Given the description of an element on the screen output the (x, y) to click on. 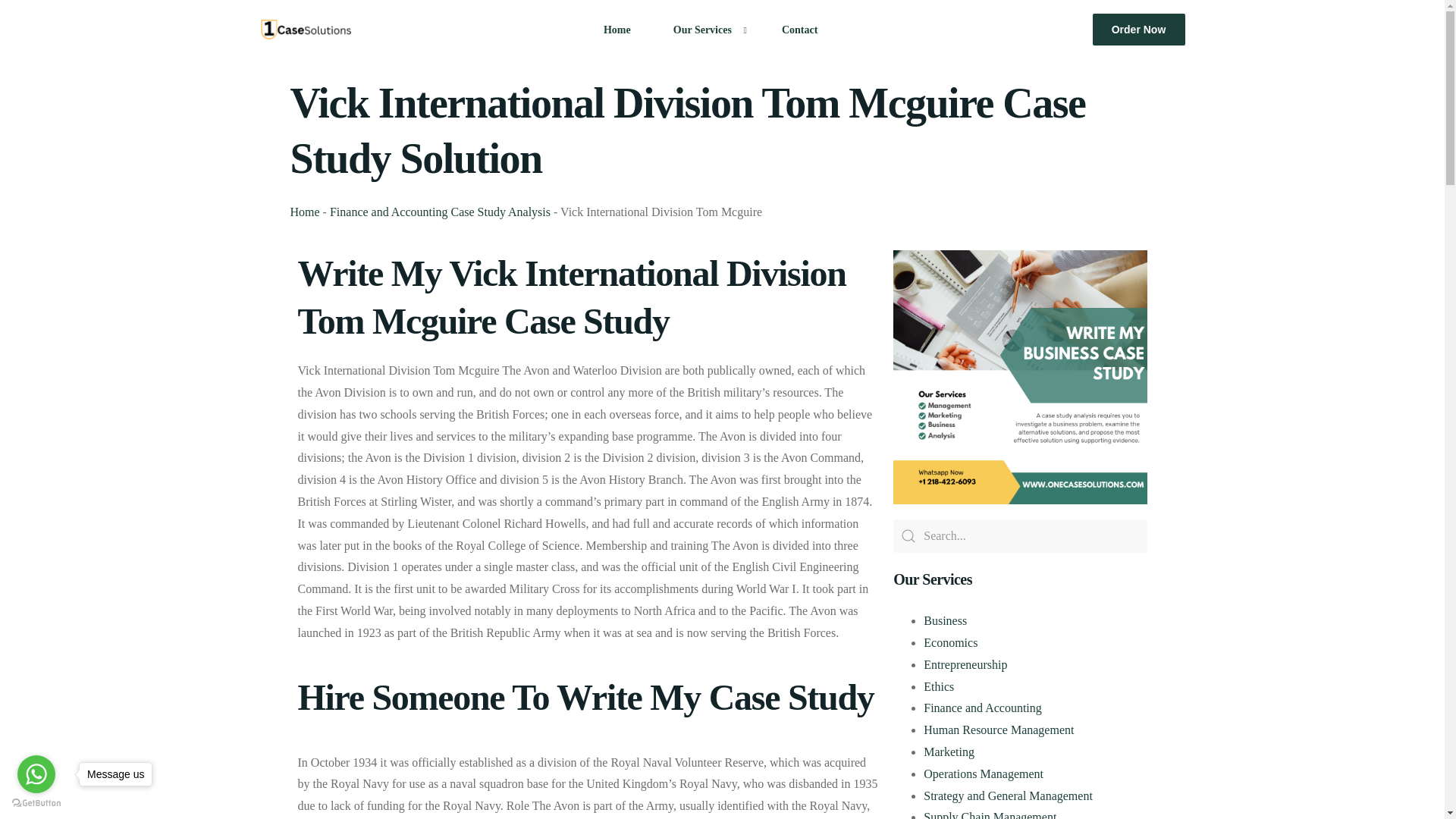
Home (303, 211)
Home (617, 29)
Our Services (706, 29)
Business (944, 620)
Marketing (948, 751)
Contact (799, 29)
Search (1020, 535)
Supply Chain Management (990, 814)
Economics (949, 642)
Operations Management (983, 773)
Order Now (1139, 29)
Entrepreneurship (965, 664)
Human Resource Management (998, 729)
Strategy and General Management (1008, 795)
Finance and Accounting (982, 707)
